Given the description of an element on the screen output the (x, y) to click on. 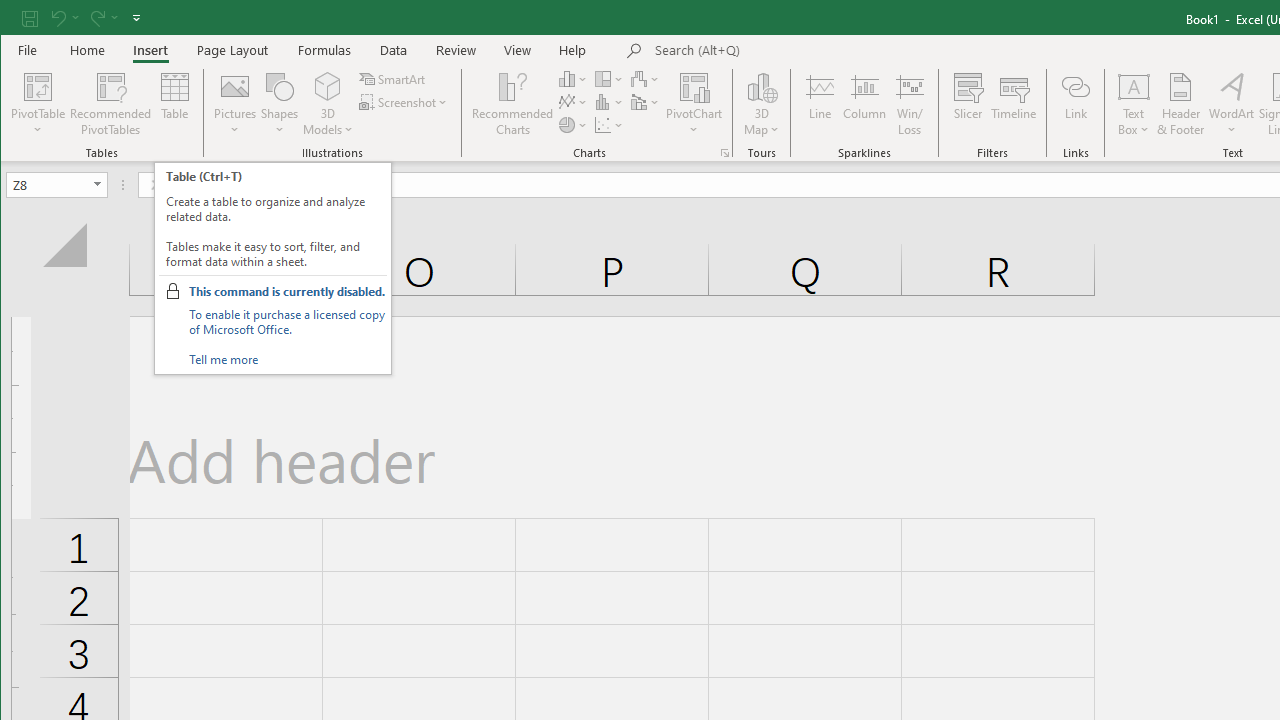
Timeline (1014, 104)
SmartArt... (393, 78)
PivotChart (694, 86)
Table (174, 104)
Insert Line or Area Chart (573, 101)
Draw Horizontal Text Box (1133, 86)
Insert Scatter (X, Y) or Bubble Chart (609, 124)
Text Box (1133, 104)
Link (1075, 104)
Insert Waterfall, Funnel, Stock, Surface, or Radar Chart (646, 78)
